Given the description of an element on the screen output the (x, y) to click on. 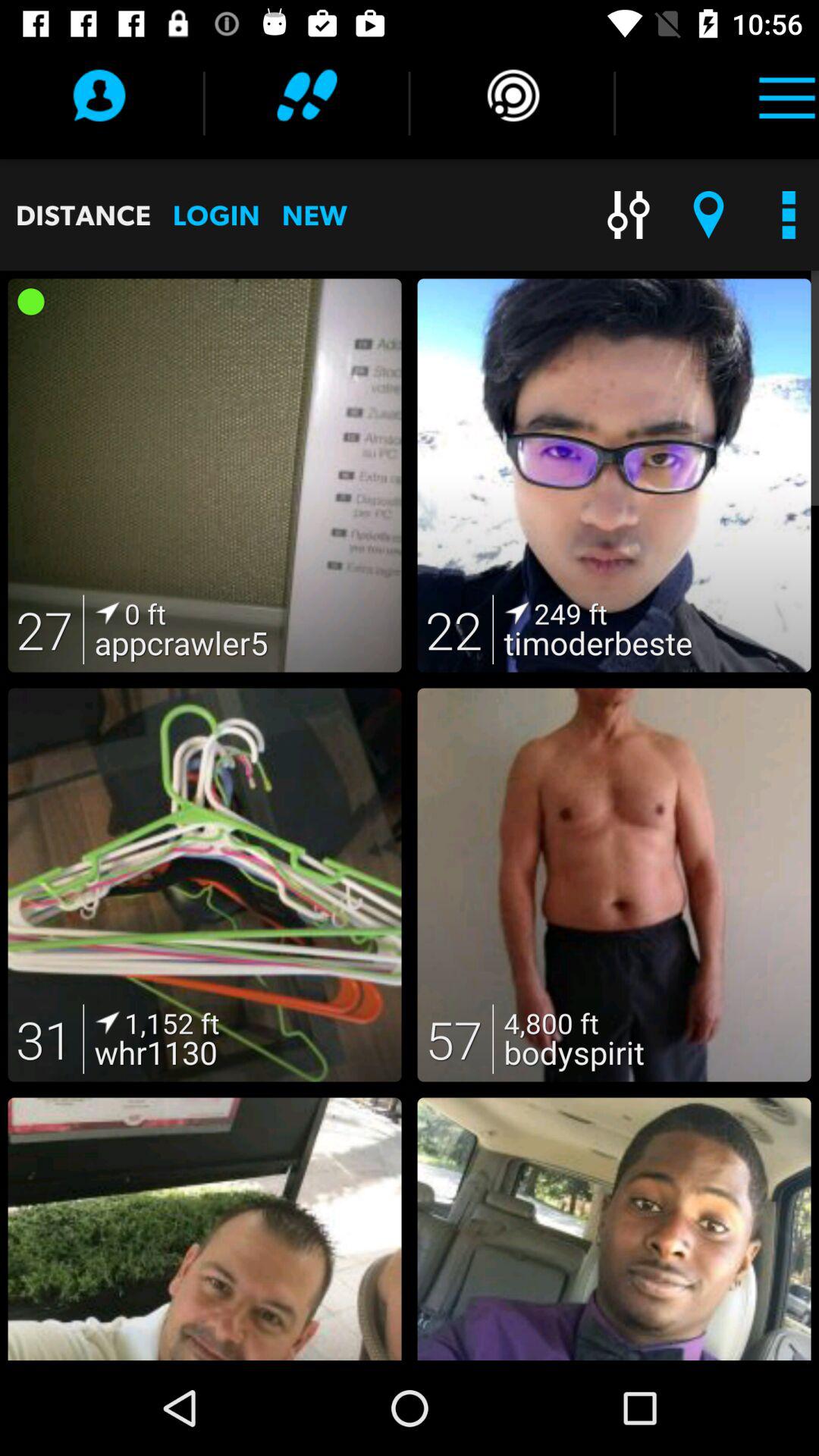
select the second image in the third row (614, 1228)
select the first image (205, 475)
click on the second image (614, 475)
select the image with the number 31 (205, 884)
click on menu (787, 95)
